Given the description of an element on the screen output the (x, y) to click on. 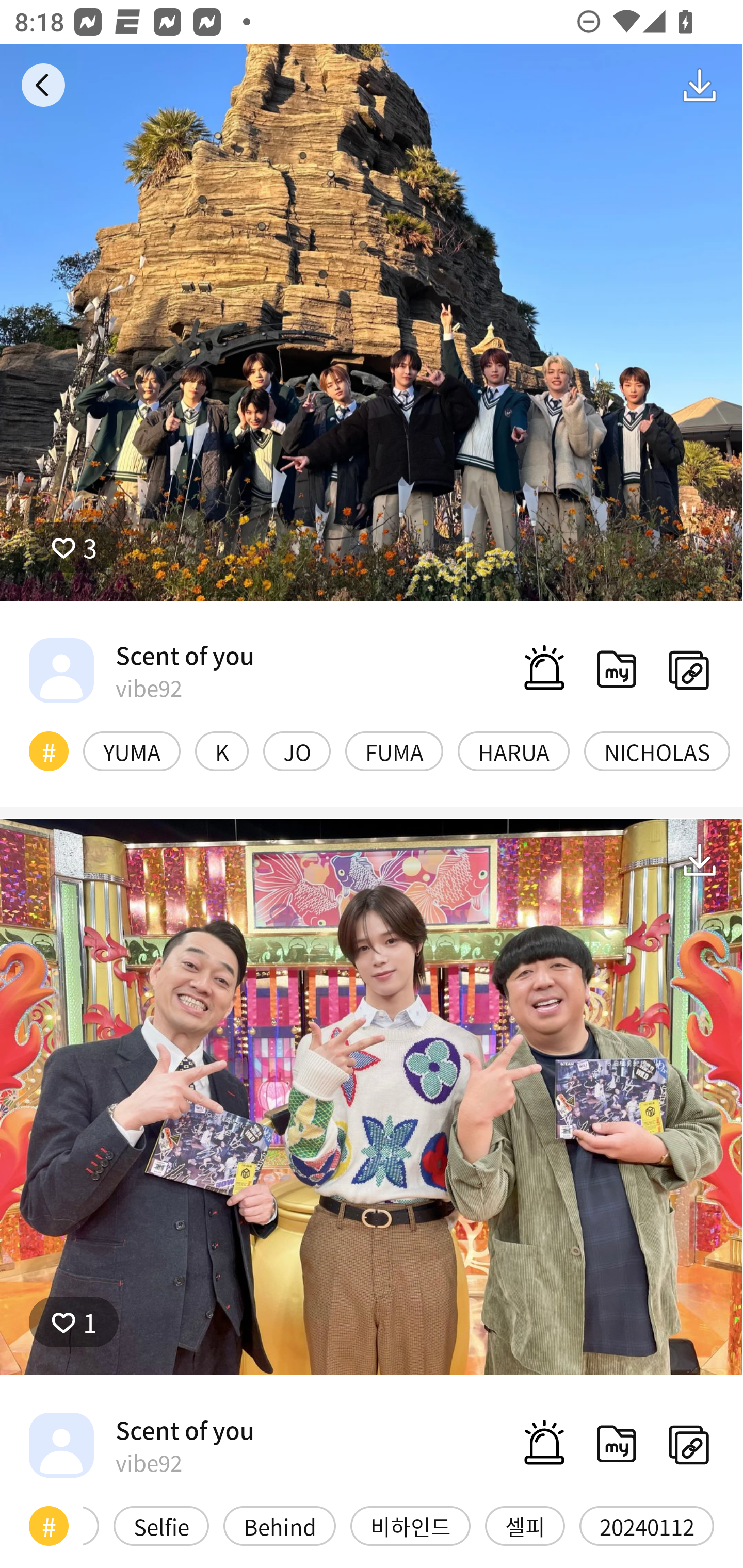
3 (371, 322)
3 (73, 547)
Scent of you vibe92 (141, 670)
YUMA (131, 750)
K (221, 750)
JO (296, 750)
FUMA (394, 750)
HARUA (513, 750)
NICHOLAS (656, 750)
1 (371, 1096)
1 (73, 1321)
Scent of you vibe92 (141, 1444)
Selfie (160, 1526)
Behind (279, 1526)
비하인드 (410, 1526)
셀피 (524, 1526)
20240112 (646, 1526)
